Given the description of an element on the screen output the (x, y) to click on. 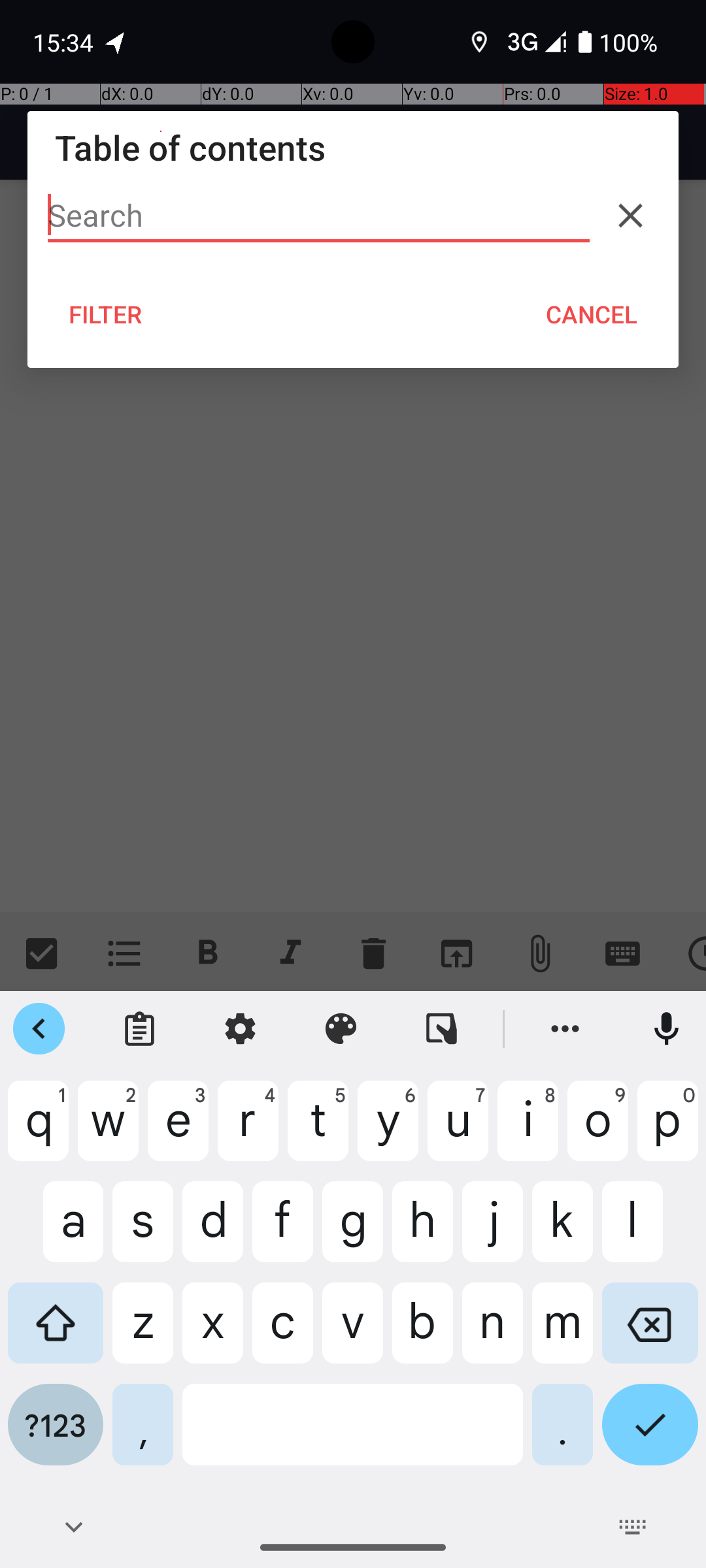
Table of contents Element type: android.widget.TextView (352, 147)
FILTER Element type: android.widget.Button (105, 313)
Theme settings Element type: android.widget.FrameLayout (340, 1028)
One handed mode Element type: android.widget.FrameLayout (441, 1028)
